Given the description of an element on the screen output the (x, y) to click on. 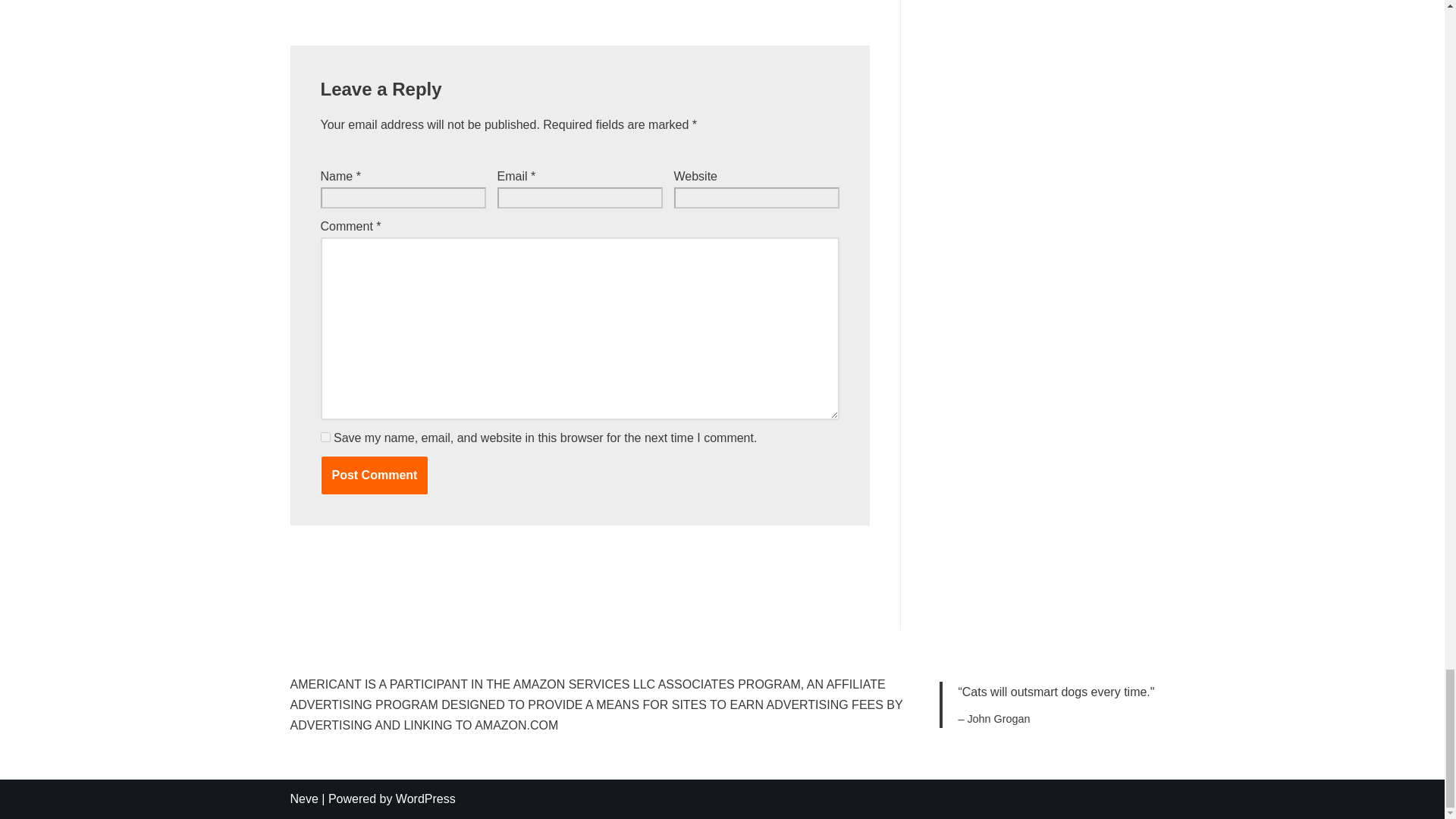
Post Comment (374, 475)
yes (325, 437)
Post Comment (374, 475)
